Given the description of an element on the screen output the (x, y) to click on. 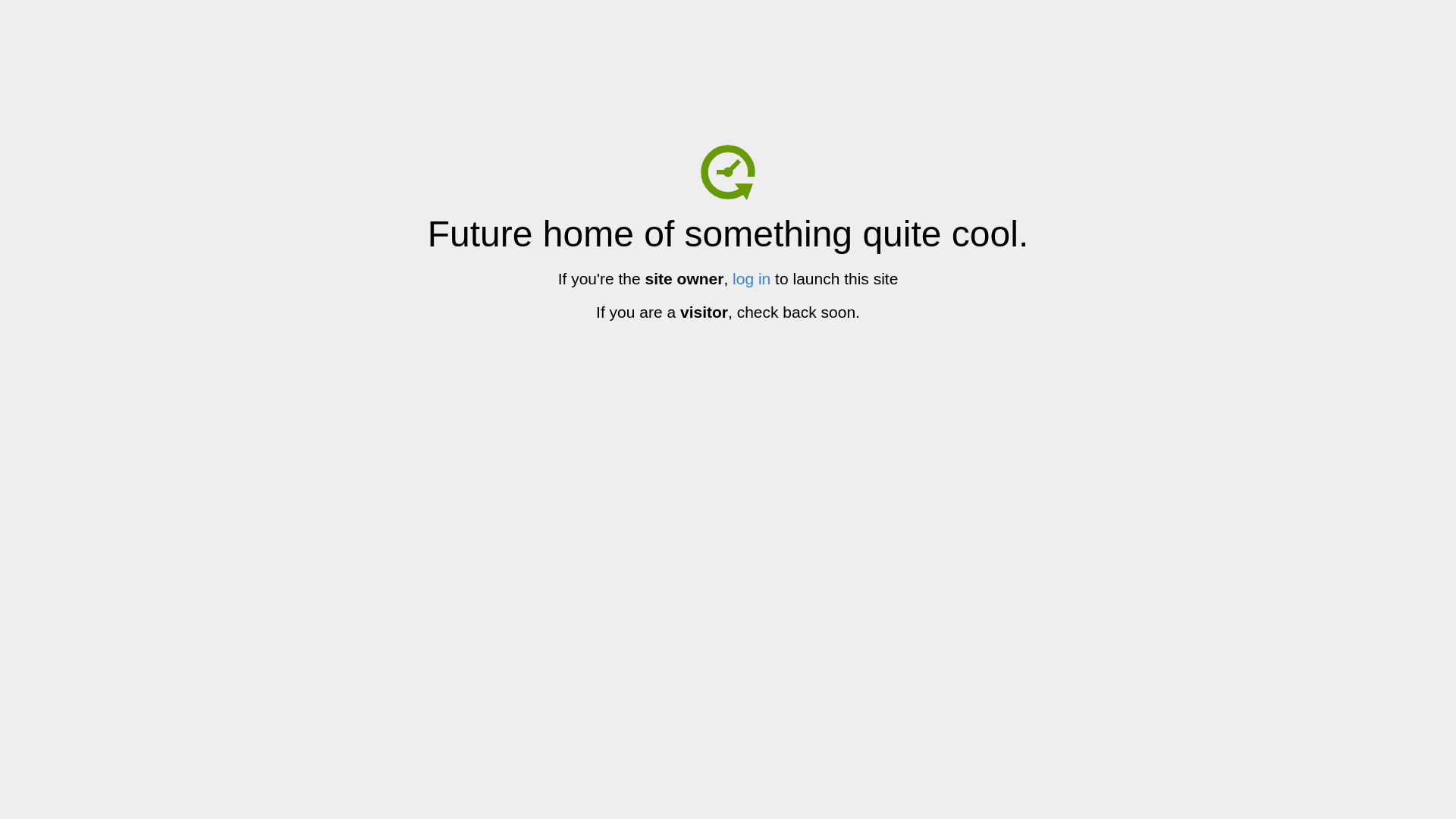
log in Element type: text (751, 278)
